Given the description of an element on the screen output the (x, y) to click on. 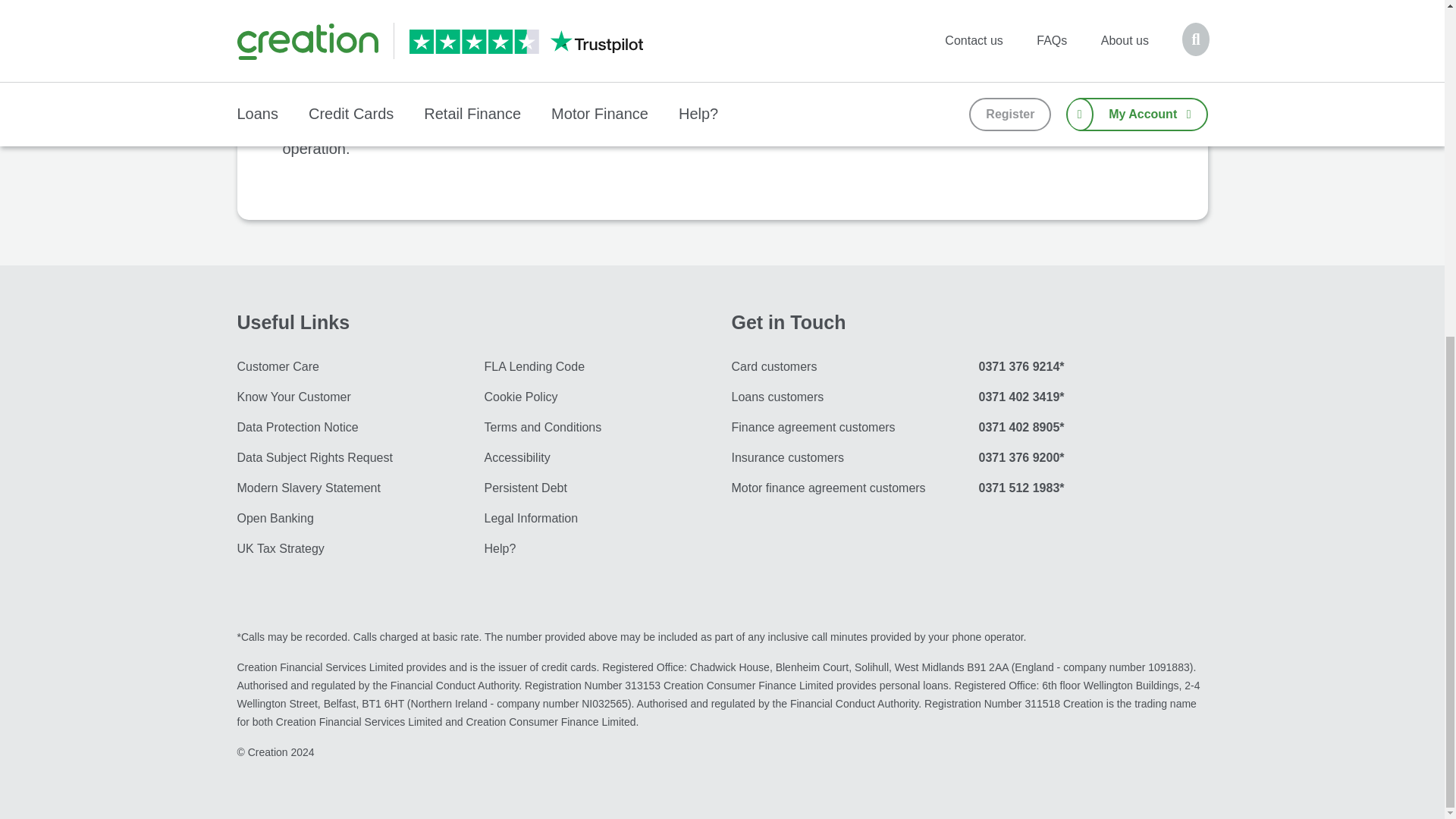
UK Tax Strategy (338, 548)
Modern Slavery Statement (338, 488)
Know Your Customer (338, 397)
Customer Care (338, 367)
FLA Lending Code (585, 367)
Open Banking (338, 518)
Data Subject Rights Request (338, 458)
Data Protection Notice (338, 427)
